Given the description of an element on the screen output the (x, y) to click on. 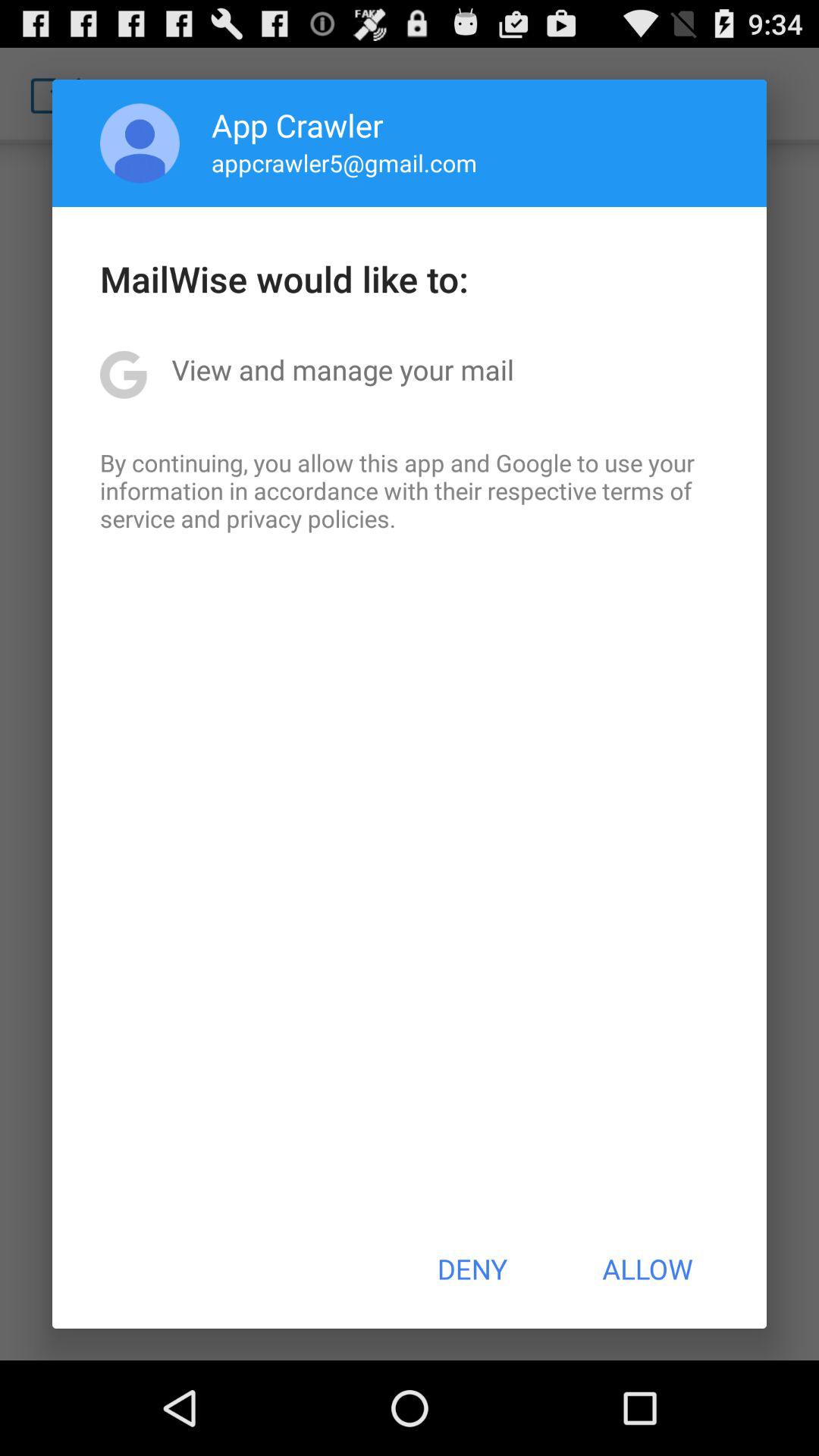
click the icon to the left of the allow item (471, 1268)
